Given the description of an element on the screen output the (x, y) to click on. 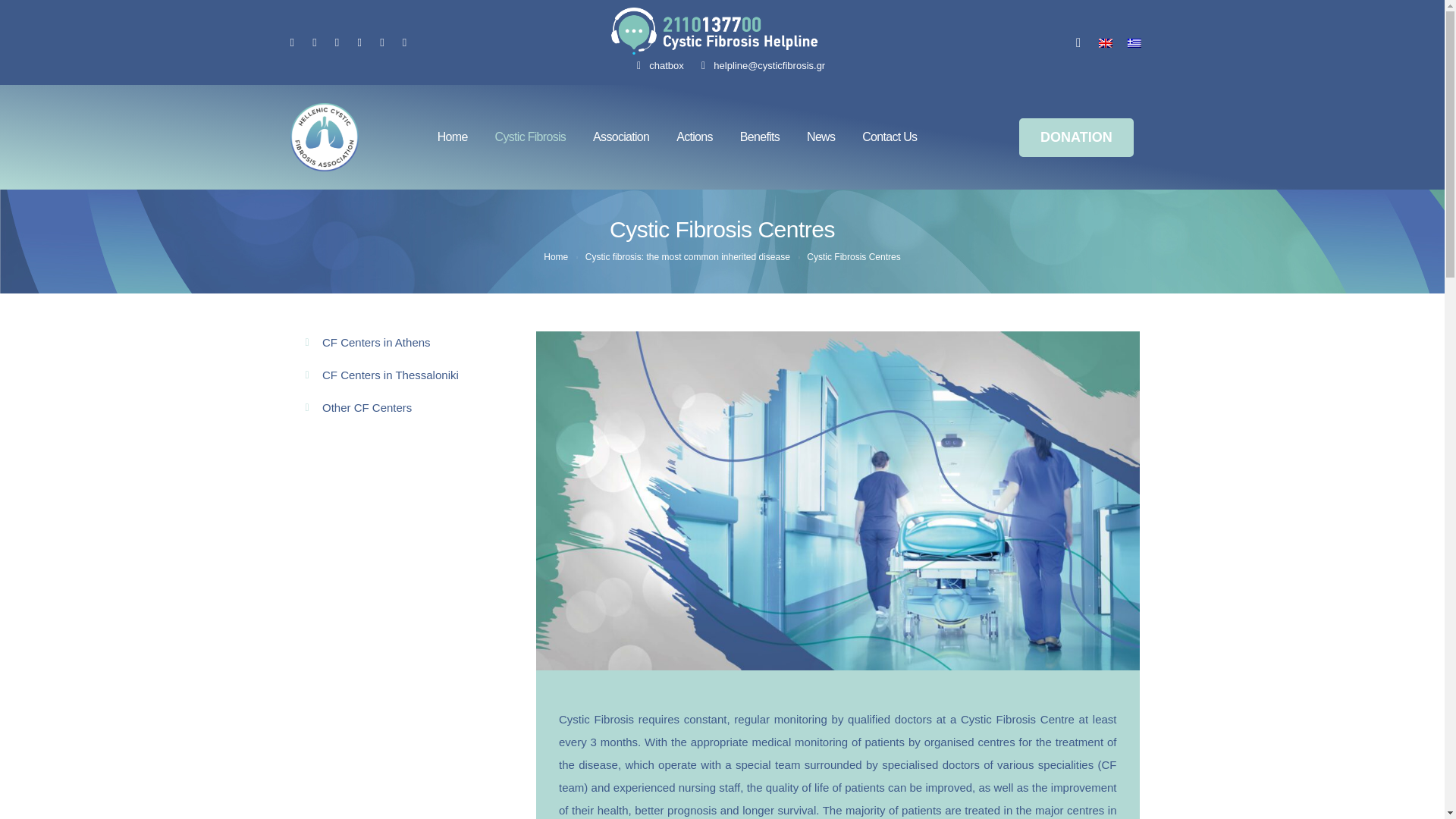
chatbox (657, 65)
Association (620, 137)
Cystic Fibrosis (530, 137)
Browse to: Home (555, 256)
